Given the description of an element on the screen output the (x, y) to click on. 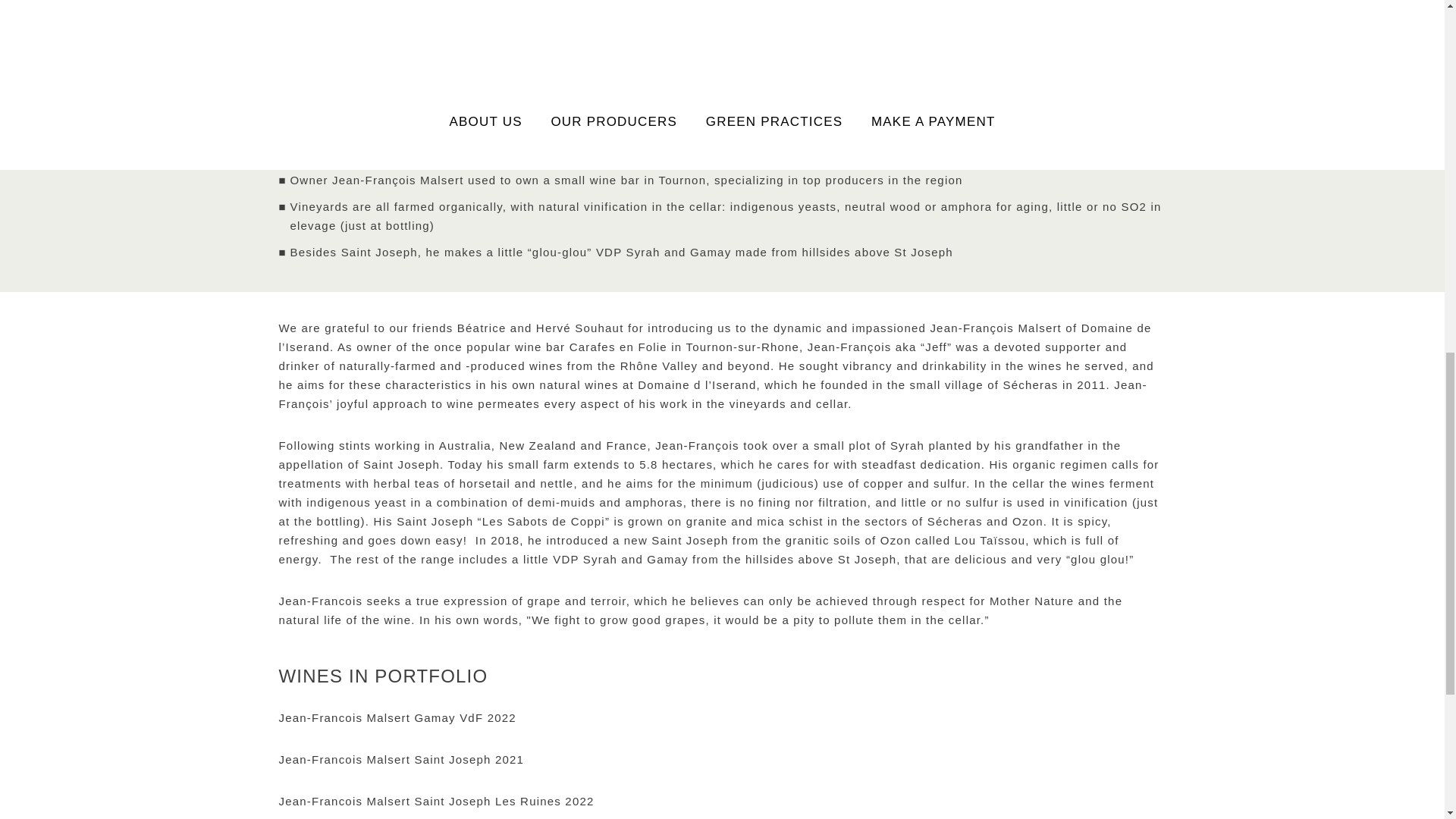
Jean-Francois Malsert Saint Joseph Les Ruines 2022 (722, 800)
Jean-Francois Malsert Gamay VdF 2022 (722, 717)
Jean-Francois Malsert Saint Joseph 2021 (722, 758)
PRINT (722, 56)
